Given the description of an element on the screen output the (x, y) to click on. 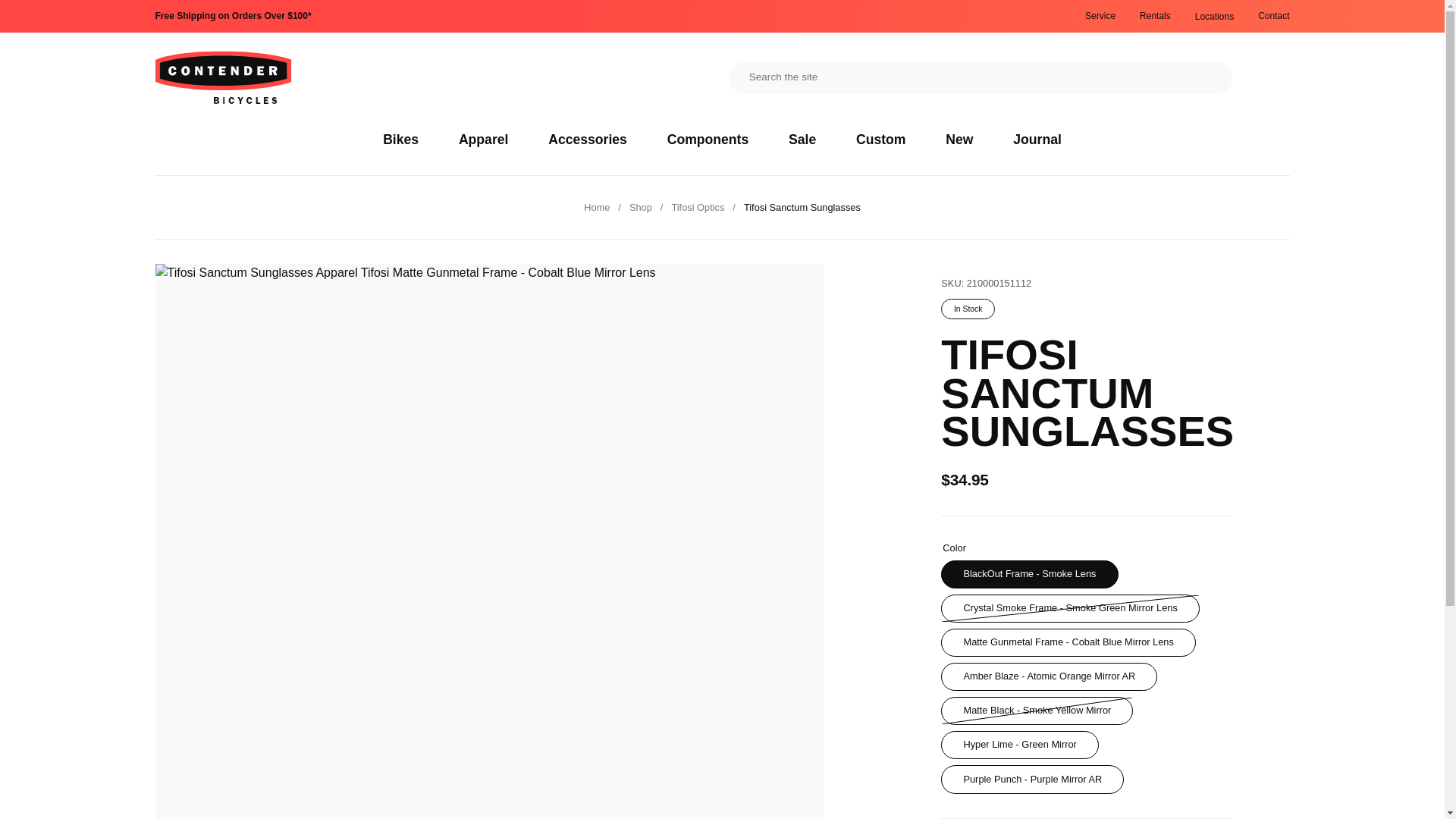
Shop (640, 206)
SHIPPING (232, 15)
Contact (1272, 15)
Bikes (400, 139)
Locations (1214, 16)
SEARCH (1200, 77)
Home (596, 206)
